Given the description of an element on the screen output the (x, y) to click on. 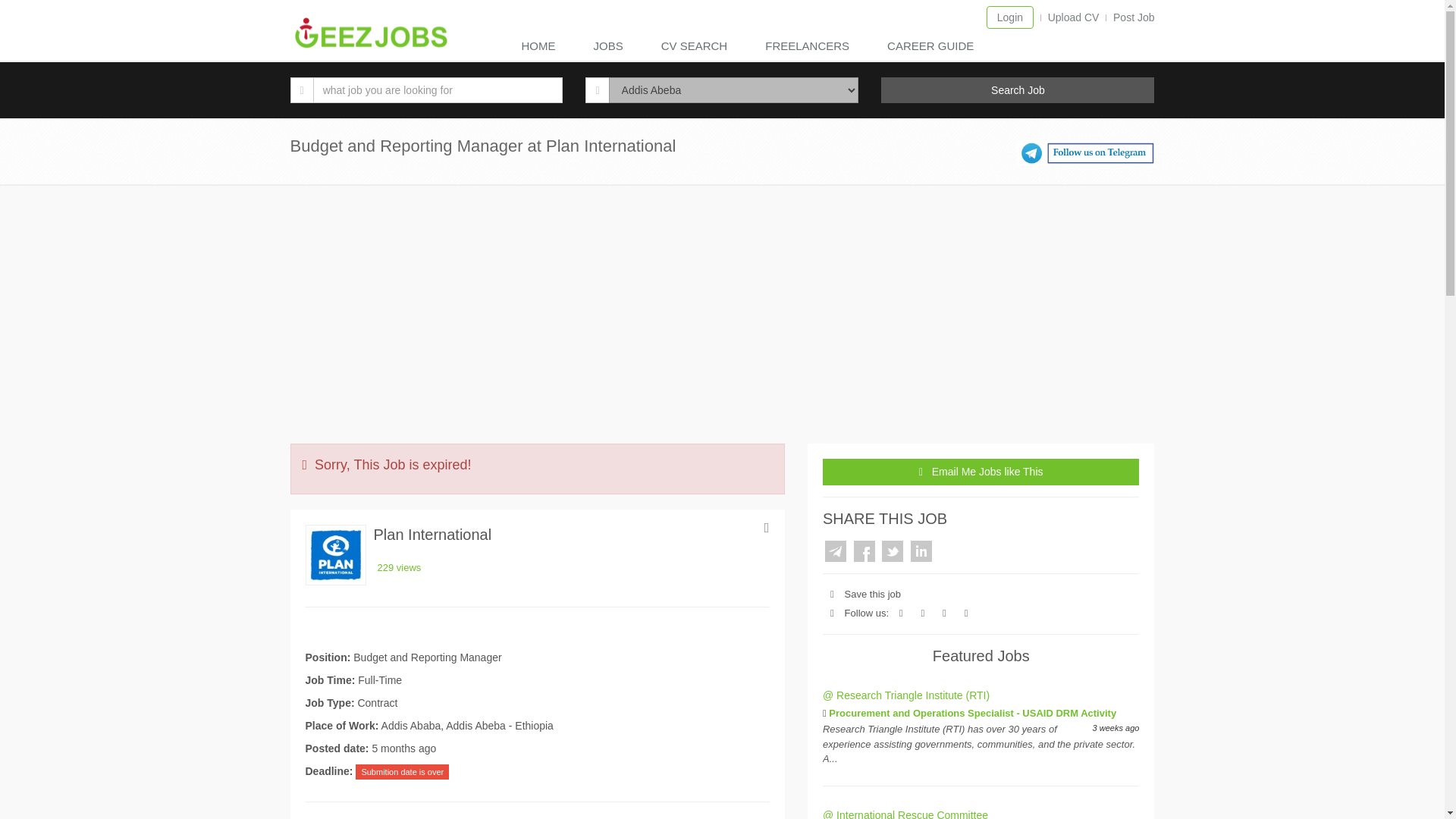
JOBS (611, 46)
CV SEARCH (698, 46)
HOME (542, 46)
Post Job (1133, 17)
Save this job (872, 593)
Facebook (864, 550)
   Email Me Jobs like This (981, 471)
Search Job (1017, 89)
Twitter (892, 550)
Procurement and Operations Specialist - USAID DRM Activity (972, 713)
Telegram (835, 550)
FREELANCERS (810, 46)
Upload CV (1073, 17)
CAREER GUIDE (933, 46)
